Given the description of an element on the screen output the (x, y) to click on. 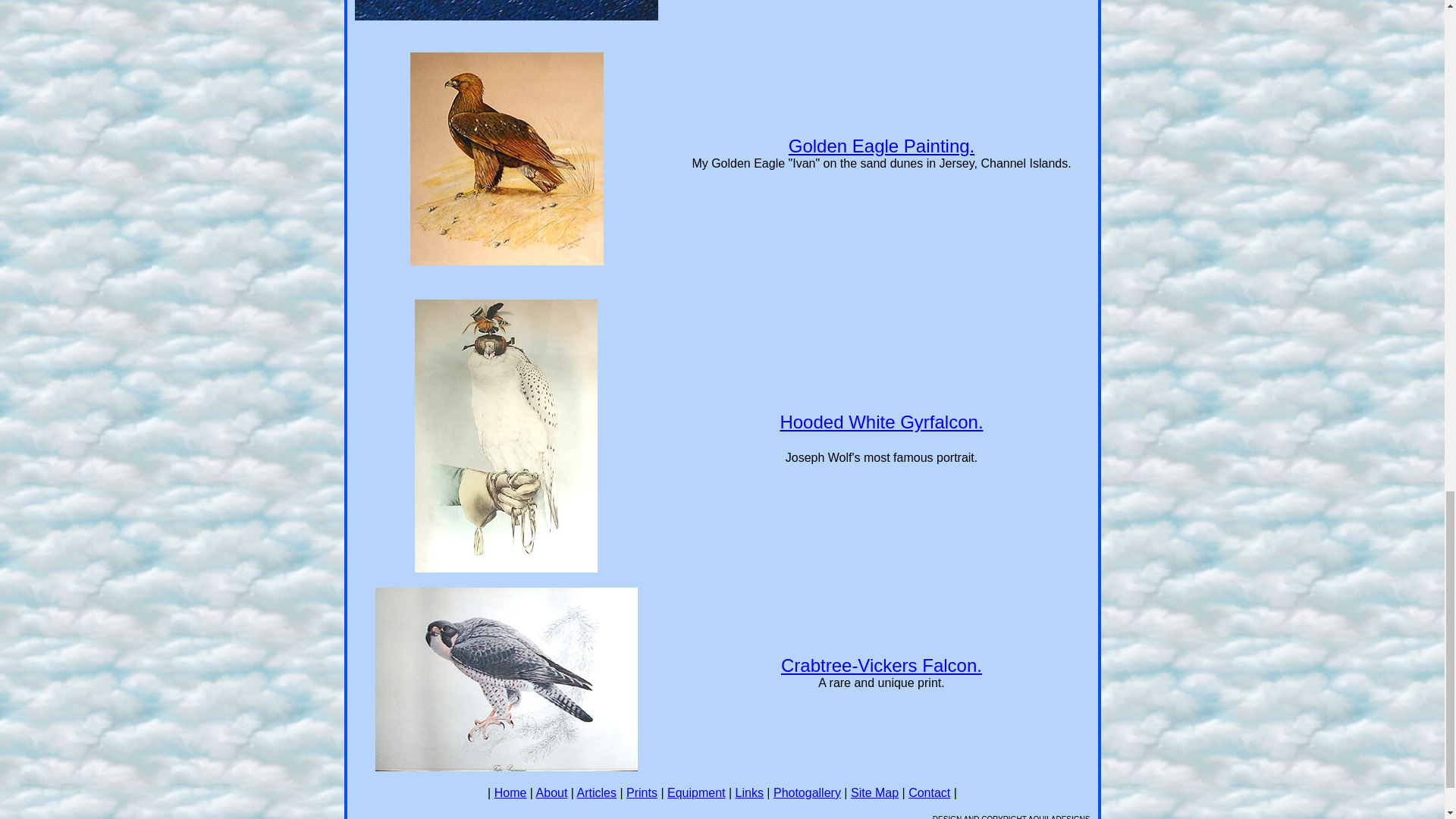
Site Map (874, 792)
Photogallery (807, 792)
Links (748, 792)
Prints (642, 792)
Hooded White Gyrfalcon. (880, 421)
About (551, 792)
Crabtree-Vickers Falcon. (880, 665)
Contact (929, 792)
Articles (595, 792)
Home (511, 792)
